Given the description of an element on the screen output the (x, y) to click on. 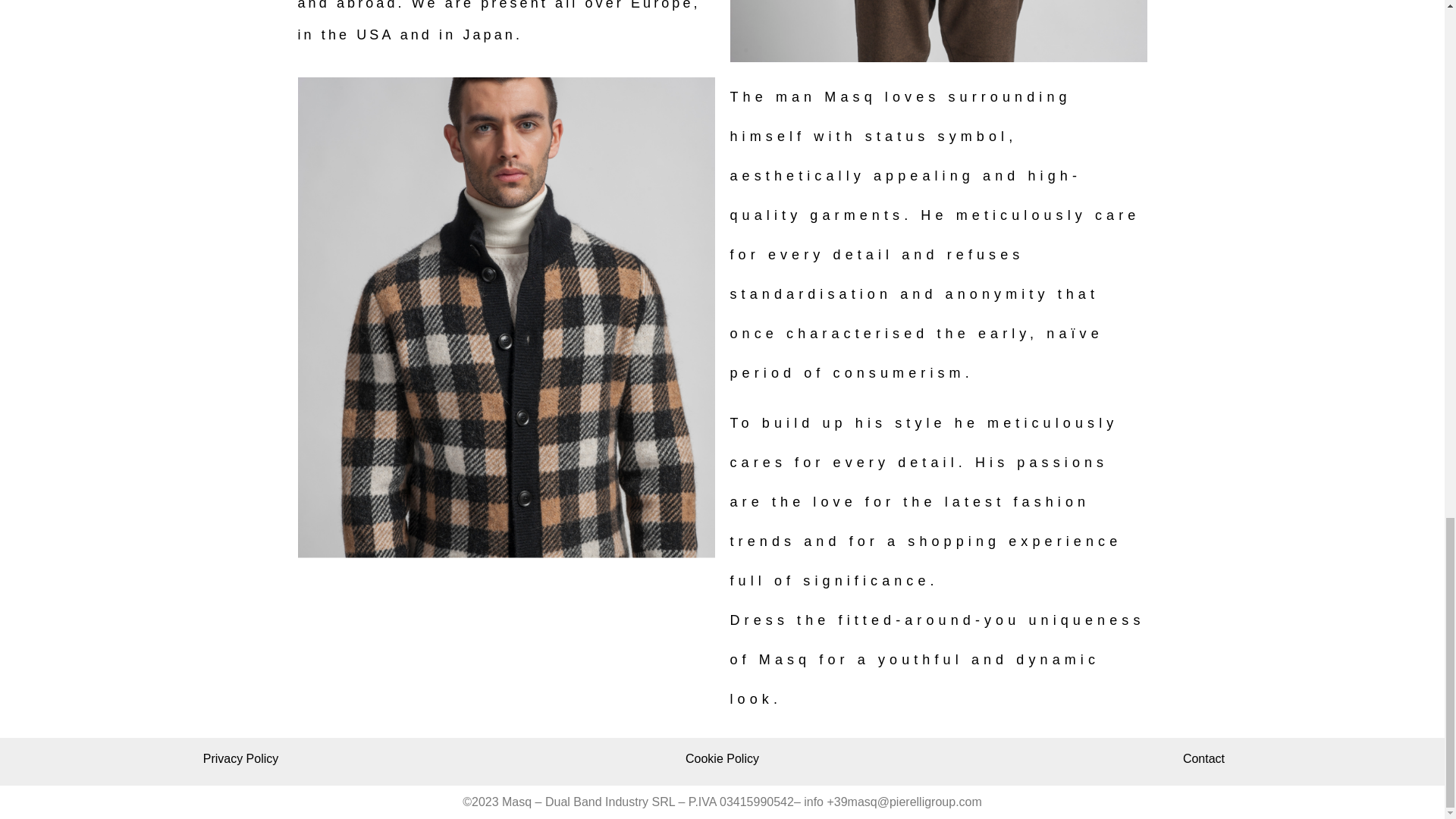
Privacy Policy (241, 758)
Contact (1203, 758)
Cookie Policy (721, 758)
